Given the description of an element on the screen output the (x, y) to click on. 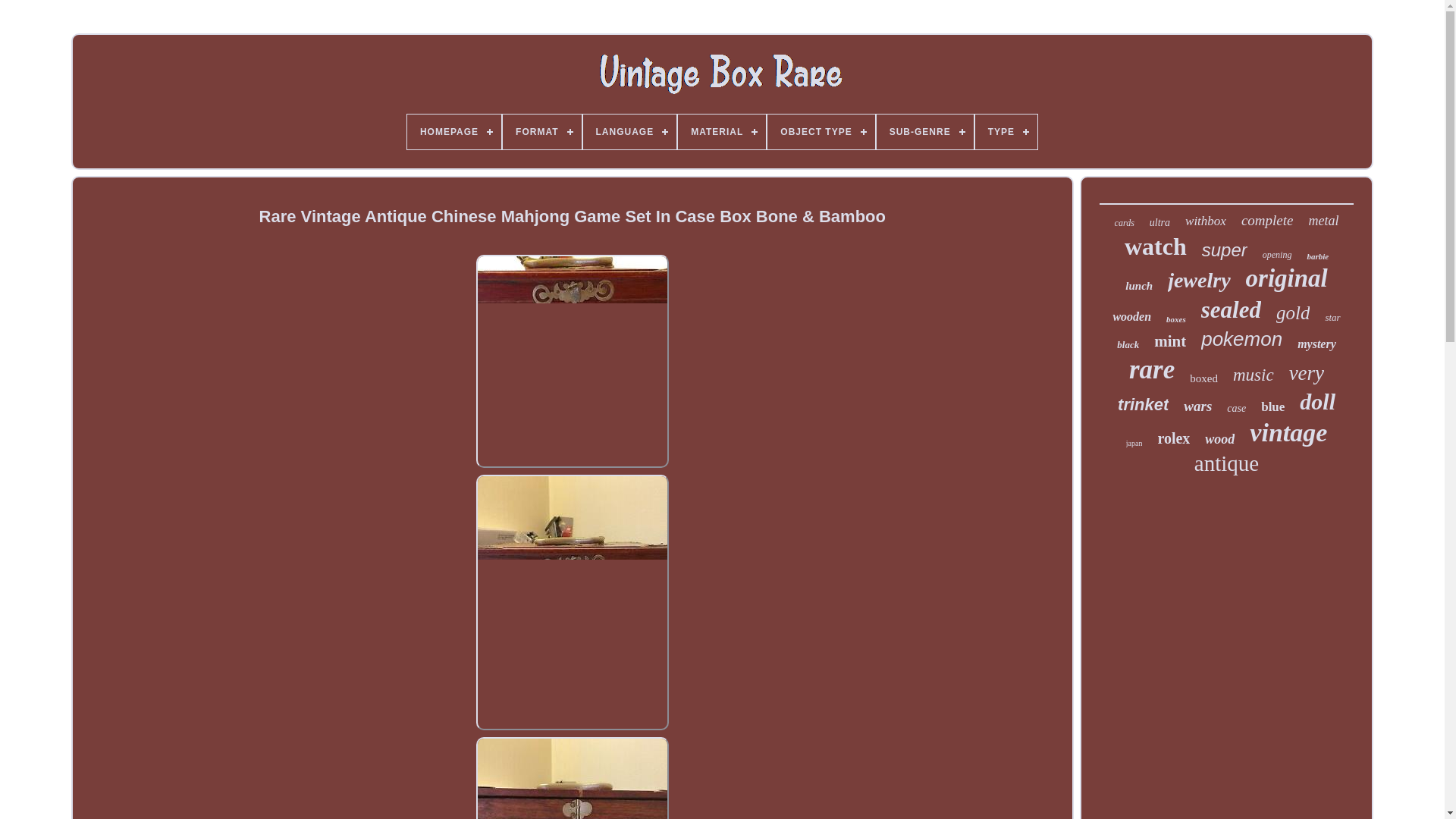
HOMEPAGE (453, 131)
FORMAT (541, 131)
MATERIAL (721, 131)
LANGUAGE (630, 131)
